Given the description of an element on the screen output the (x, y) to click on. 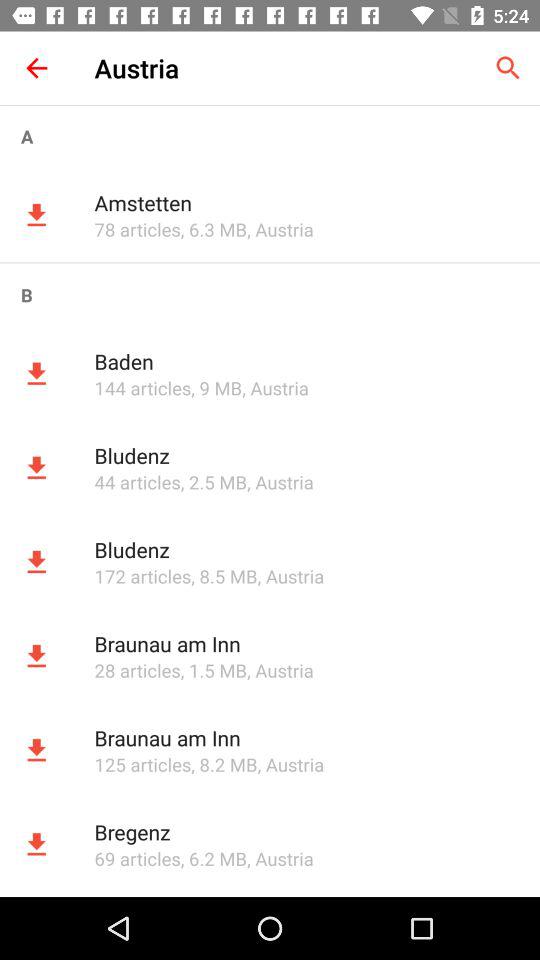
tap item to the left of austria item (36, 68)
